Given the description of an element on the screen output the (x, y) to click on. 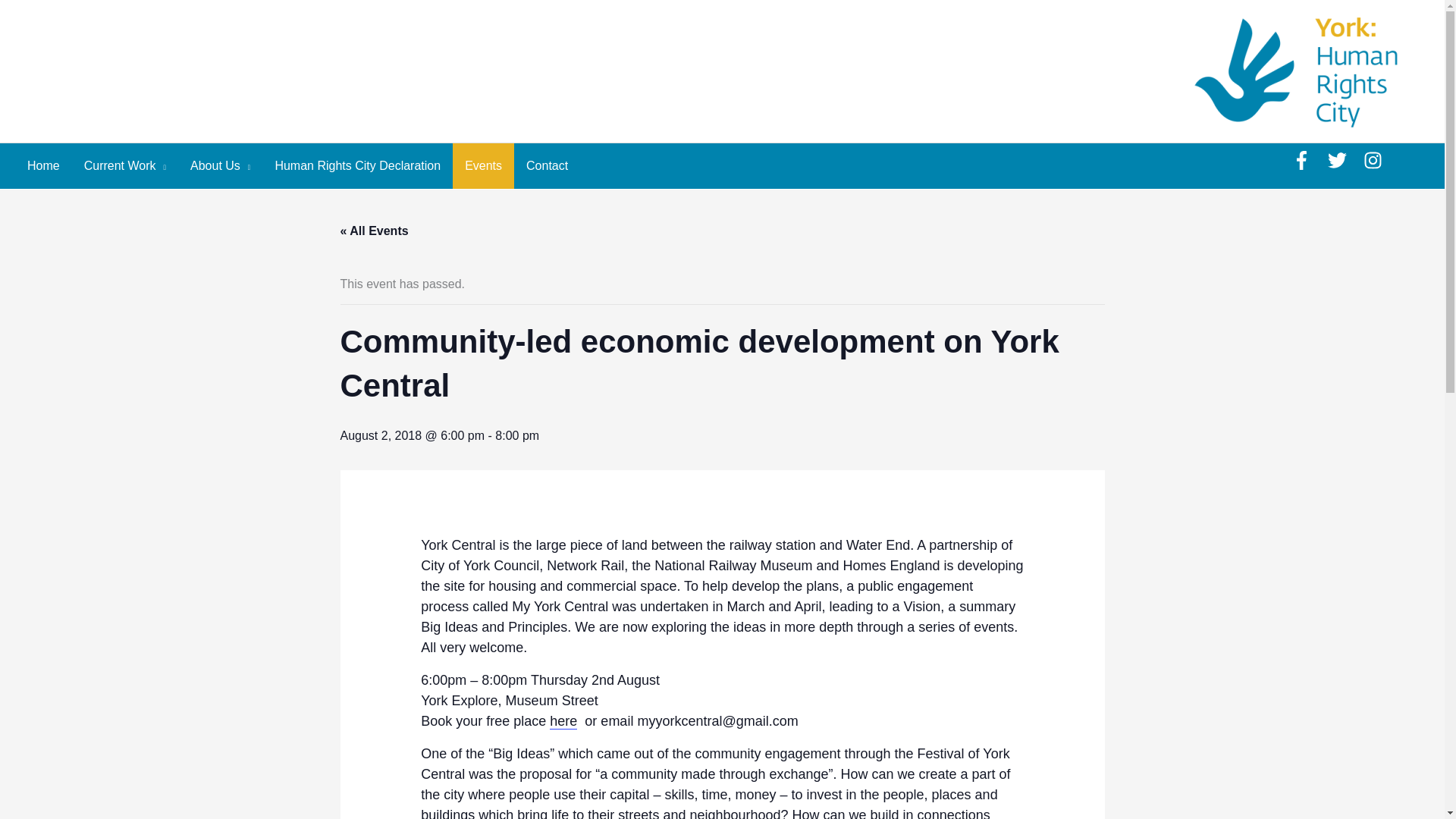
Home (42, 166)
here (563, 721)
About Us (219, 166)
Events (482, 166)
Human Rights City Declaration (357, 166)
Current Work (124, 166)
Contact (546, 166)
